Given the description of an element on the screen output the (x, y) to click on. 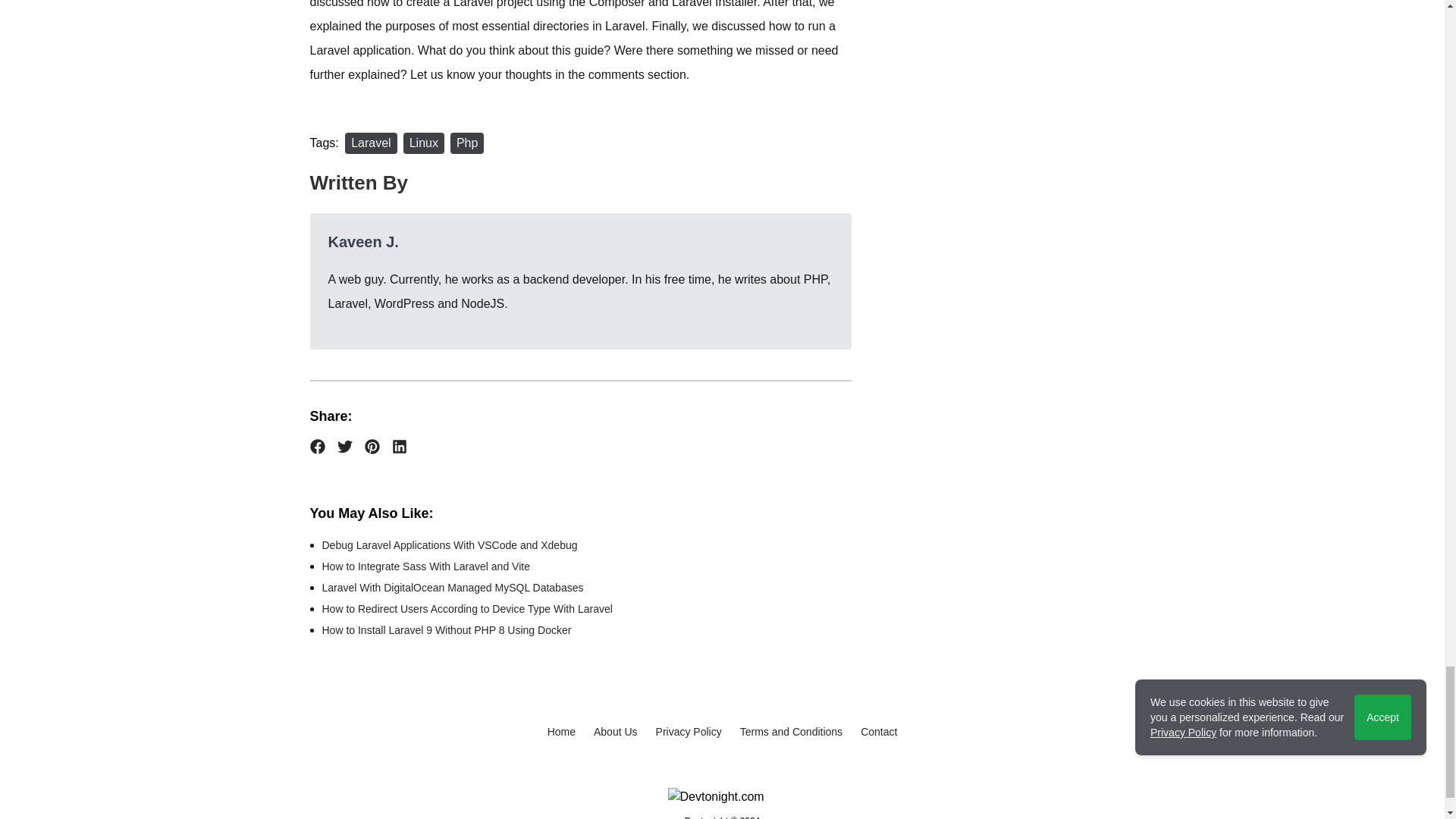
How to Integrate Sass With Laravel and Vite (425, 566)
Laravel (370, 142)
Debug Laravel Applications With VSCode and Xdebug (448, 544)
Pinterest (371, 446)
Twitter (344, 446)
Facebook (316, 446)
Php (466, 142)
Linux (423, 142)
Linkedin (398, 446)
Kaveen J. (362, 241)
